Given the description of an element on the screen output the (x, y) to click on. 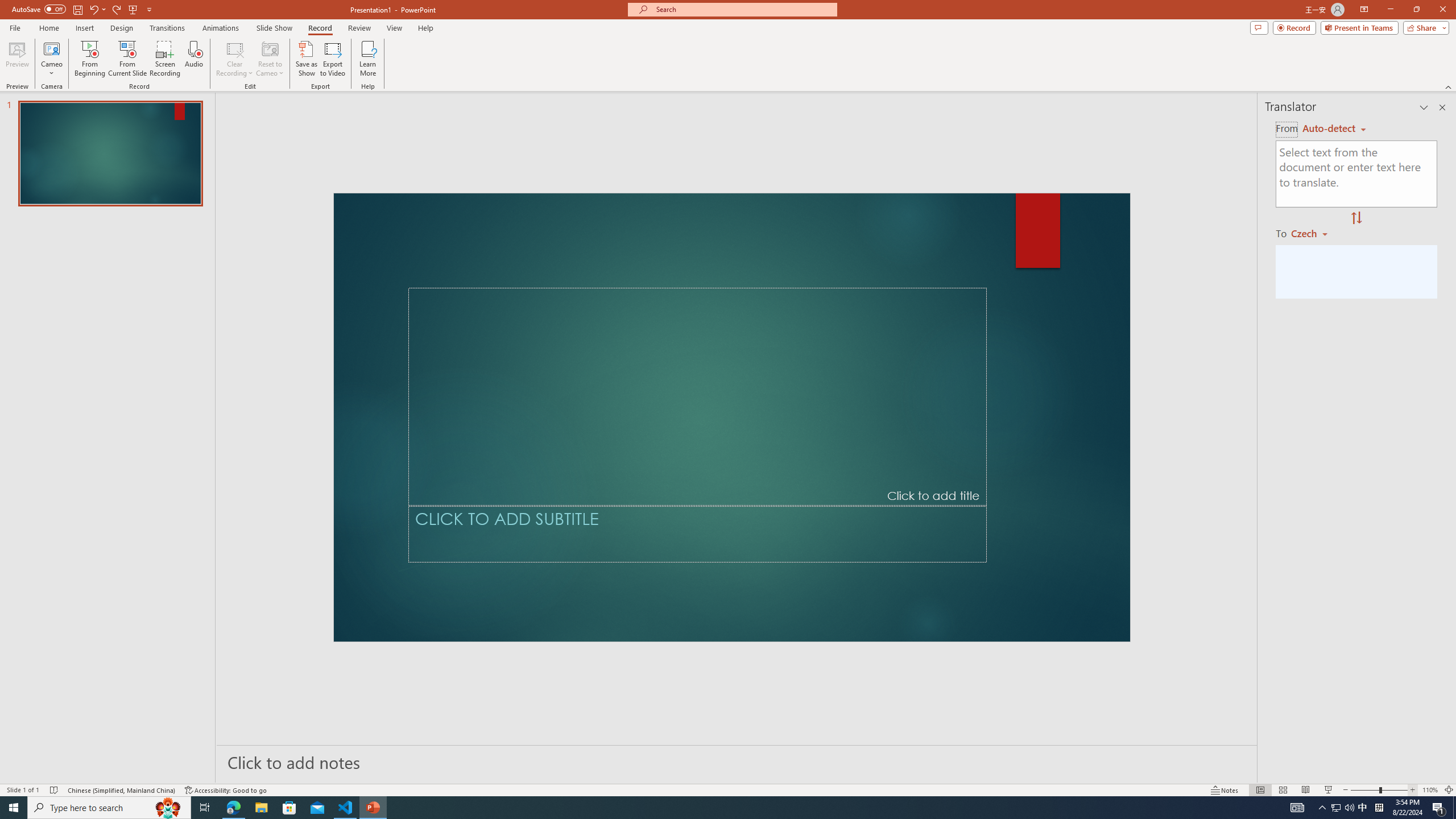
AutomationID: DynamicSearchBoxGleamImage (647, 800)
Zotero (663, 47)
Zoom Out (1350, 773)
Web Layout (1287, 773)
Class: Image (1277, 800)
Draw (235, 47)
Ink to Math (542, 92)
Page Number Page 1 of 1 (30, 773)
New Tab (517, 47)
Editing (1355, 48)
Language English (United States) (186, 773)
Accessibility Checker Accessibility: Good to go (302, 773)
